Given the description of an element on the screen output the (x, y) to click on. 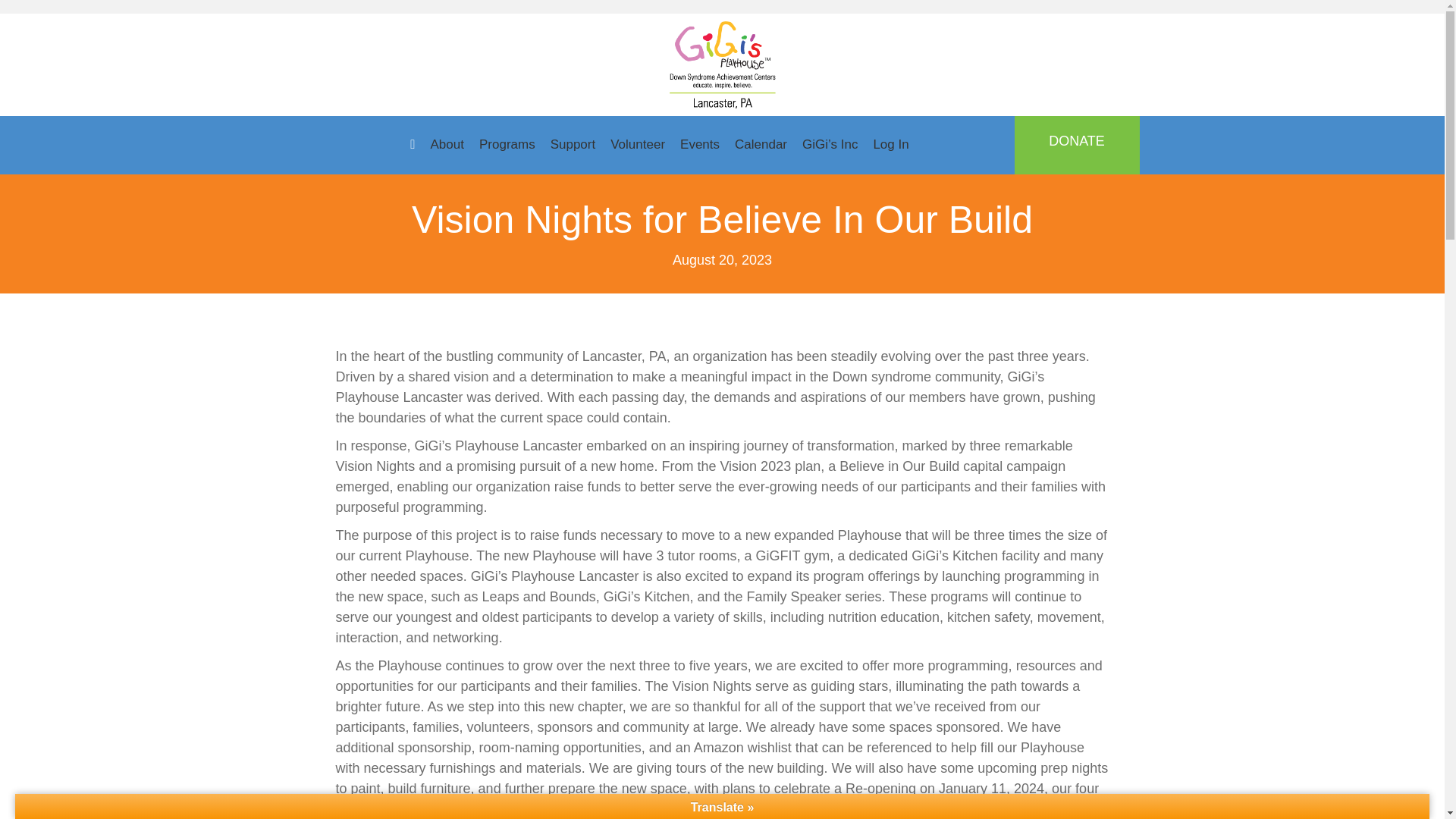
GiGi-location---Lancaster (721, 64)
Support (573, 144)
About (447, 144)
Programs (507, 144)
